Given the description of an element on the screen output the (x, y) to click on. 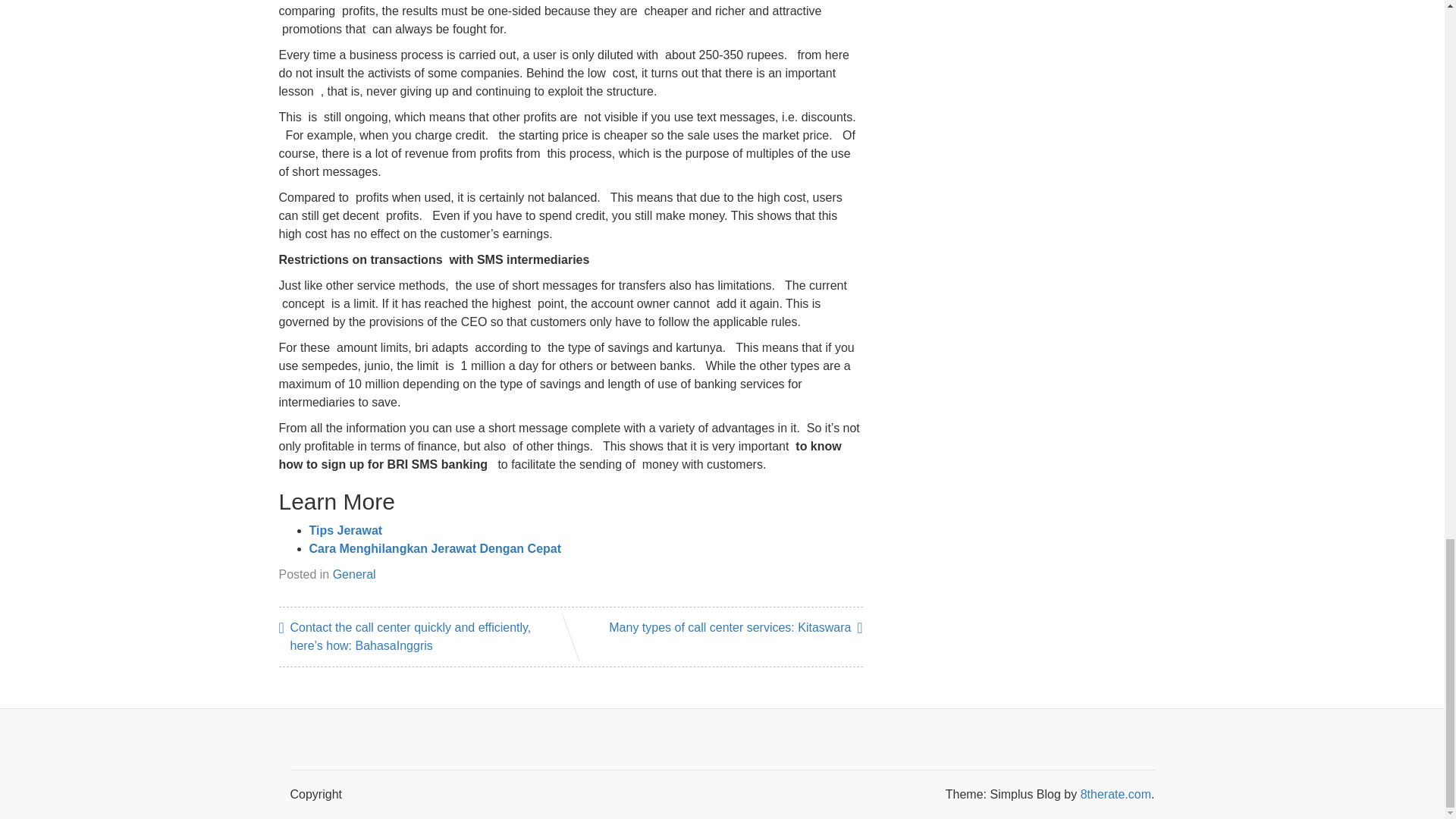
Tips Jerawat (345, 530)
 Many types of call center services: Kitaswara (734, 628)
8therate.com (1115, 793)
General (354, 574)
Cara Menghilangkan Jerawat Dengan Cepat (435, 548)
